Given the description of an element on the screen output the (x, y) to click on. 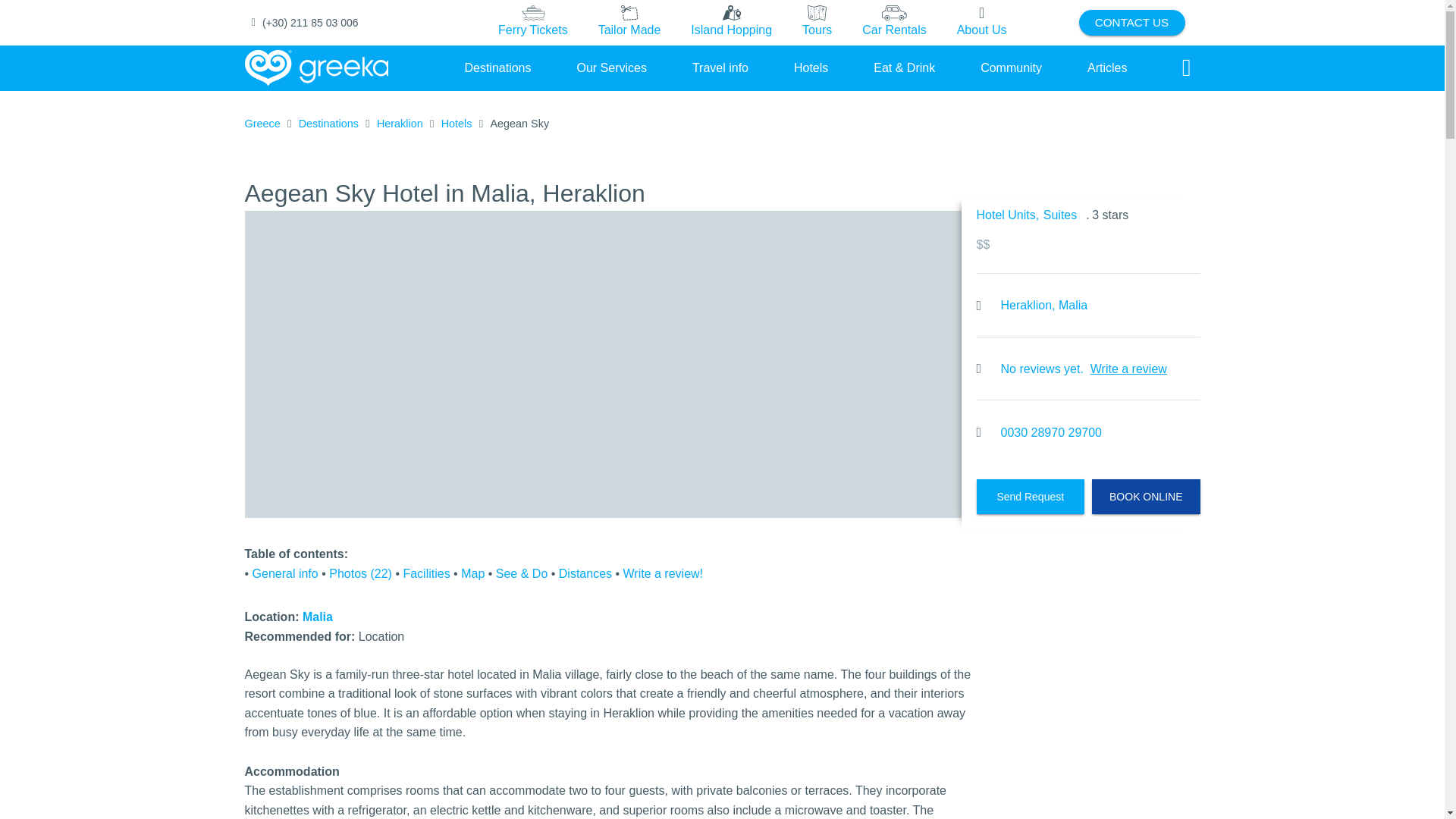
Search (1185, 67)
Book at Aegean Sky with Booking.com (1145, 496)
Tailor Made (629, 22)
General info (284, 573)
Destinations (497, 67)
Greece (261, 123)
Tailor made services (630, 22)
Blog (1106, 67)
Write a review! (663, 573)
Heraklion, Malia (1044, 305)
